Given the description of an element on the screen output the (x, y) to click on. 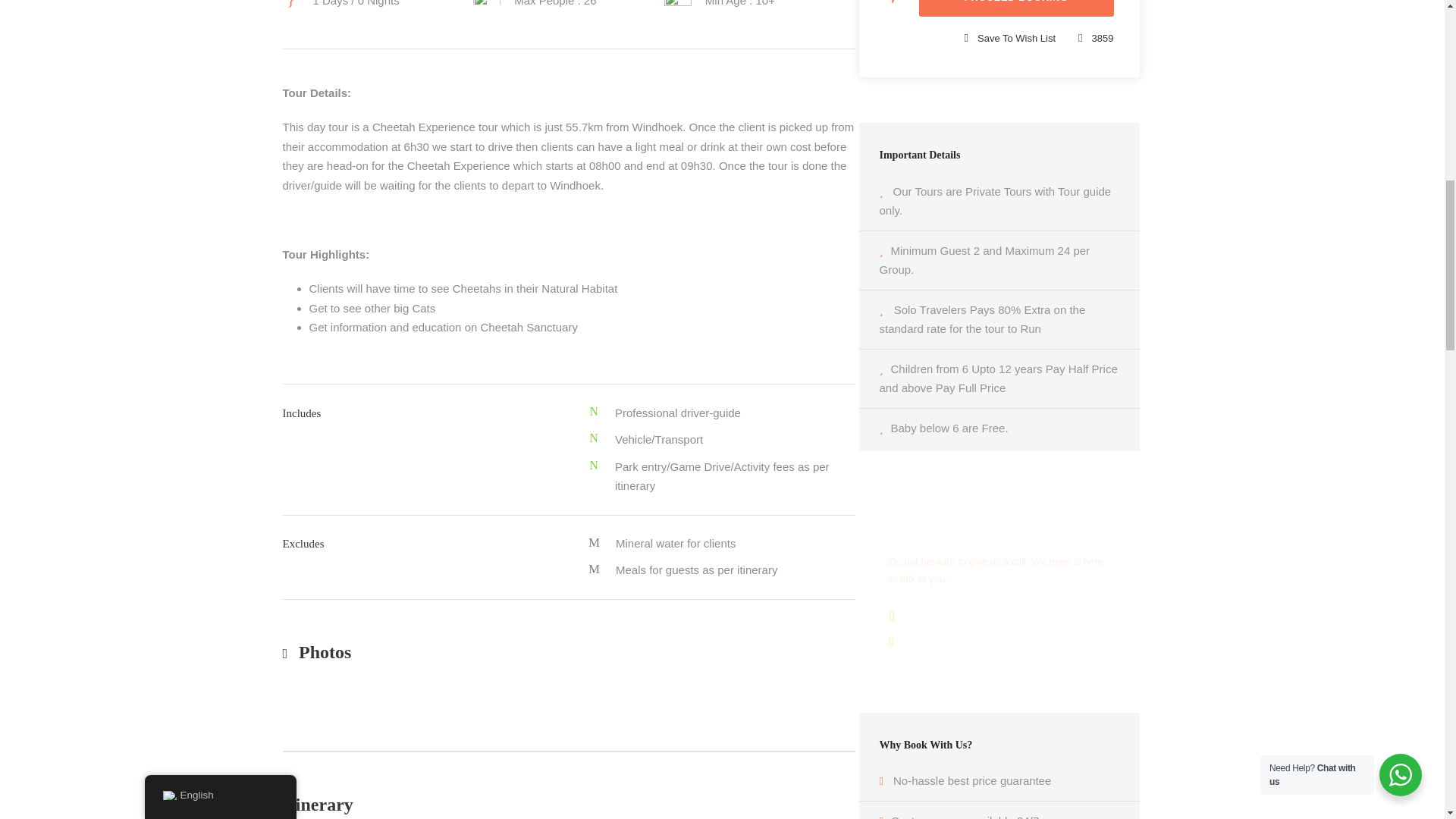
single-icon-4 (677, 3)
Proceed Booking (1015, 8)
single-icon-2 (486, 2)
